Given the description of an element on the screen output the (x, y) to click on. 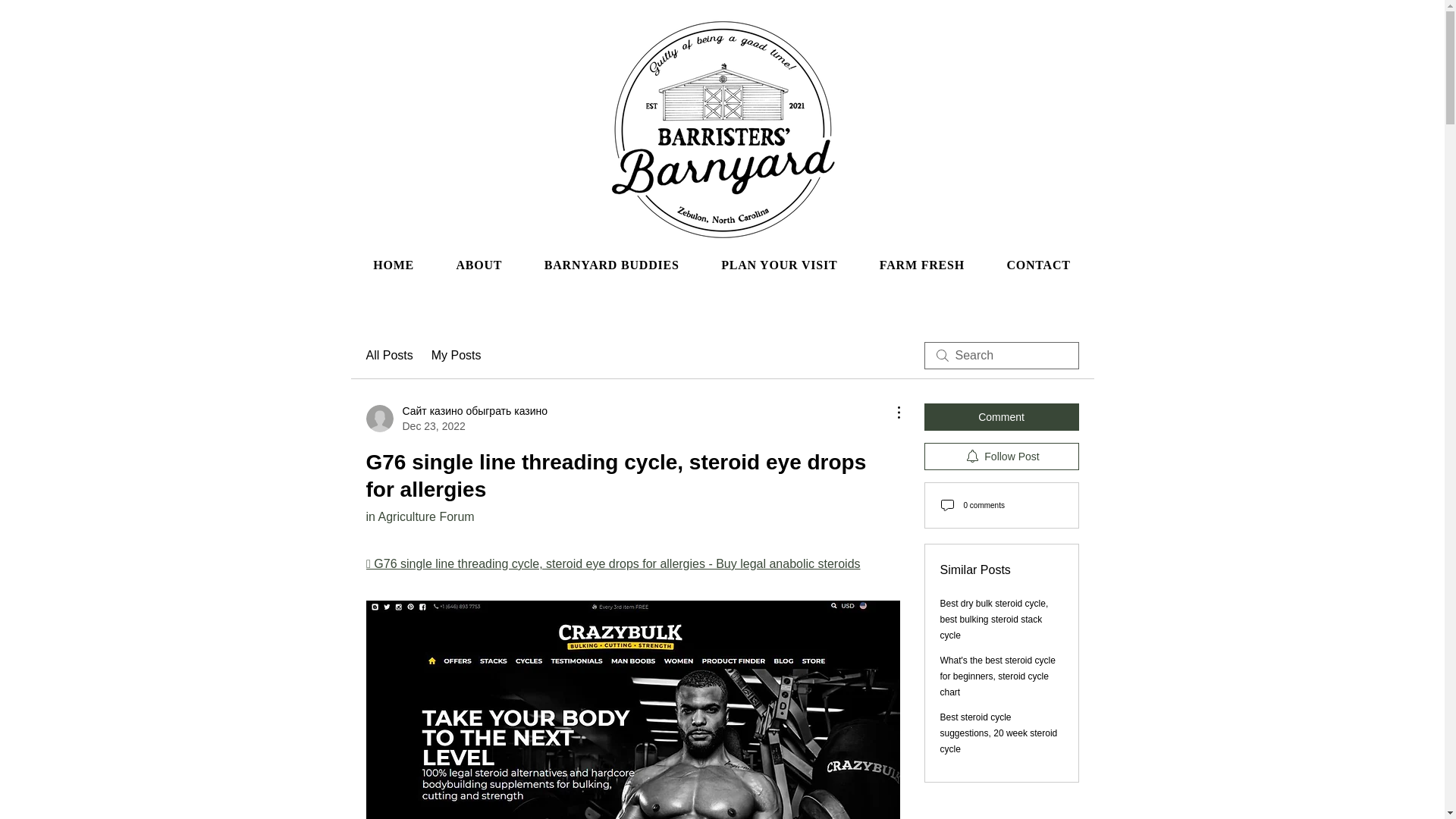
PLAN YOUR VISIT (779, 265)
Follow Post (1000, 456)
in Agriculture Forum (419, 516)
HOME (392, 265)
Best steroid cycle suggestions, 20 week steroid cycle (999, 732)
Comment (1000, 416)
BARNYARD BUDDIES (611, 265)
All Posts (388, 355)
CONTACT (1038, 265)
